Given the description of an element on the screen output the (x, y) to click on. 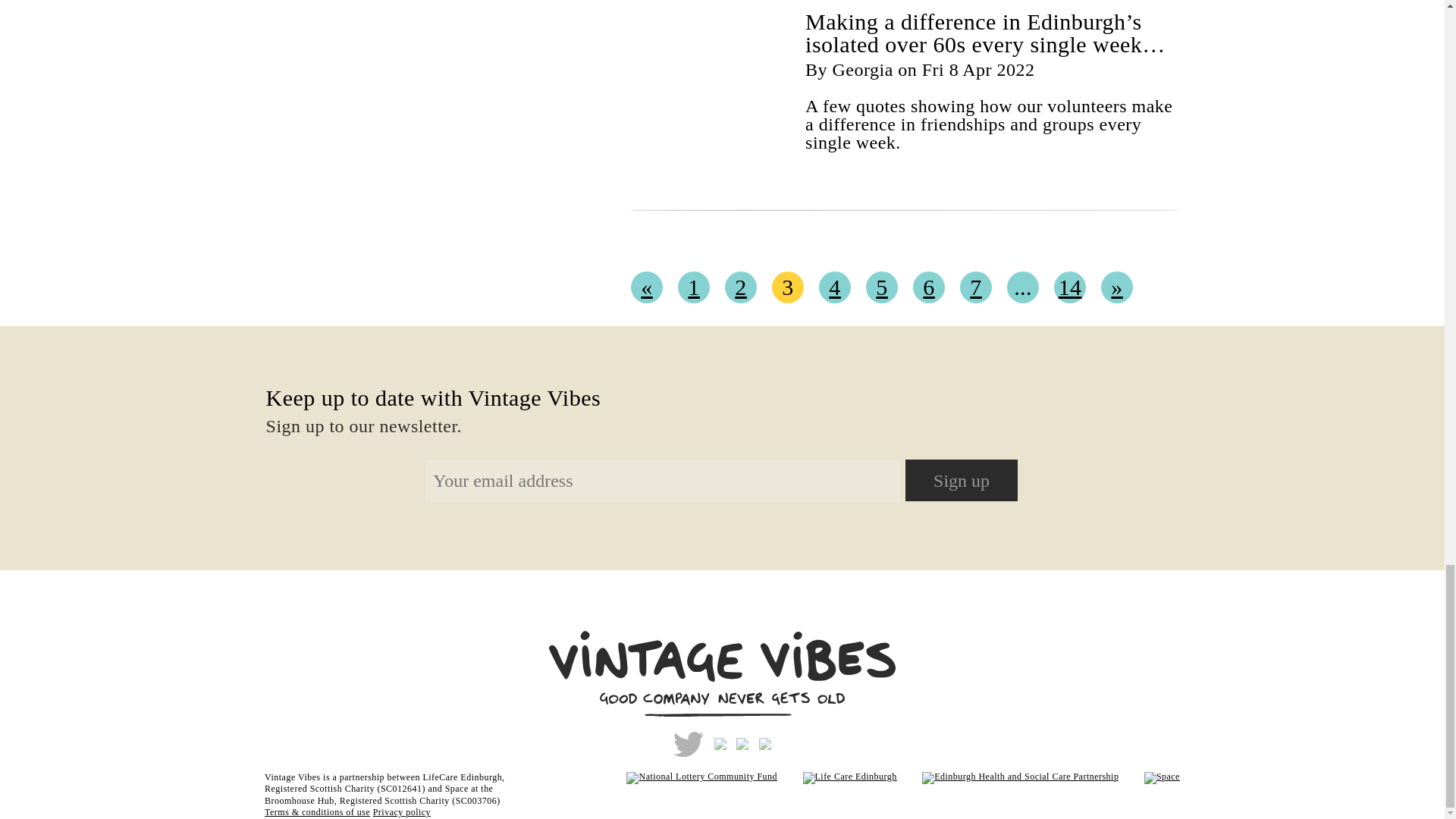
14 (1070, 287)
National Lottery Community Fund (690, 776)
1 (694, 287)
4 (834, 287)
Sign up (961, 480)
Follow us on Instagram (745, 742)
6 (928, 287)
2 (741, 287)
Edinburgh Health and Social Care Partnership (1008, 776)
Join us on Facebook (723, 742)
